Given the description of an element on the screen output the (x, y) to click on. 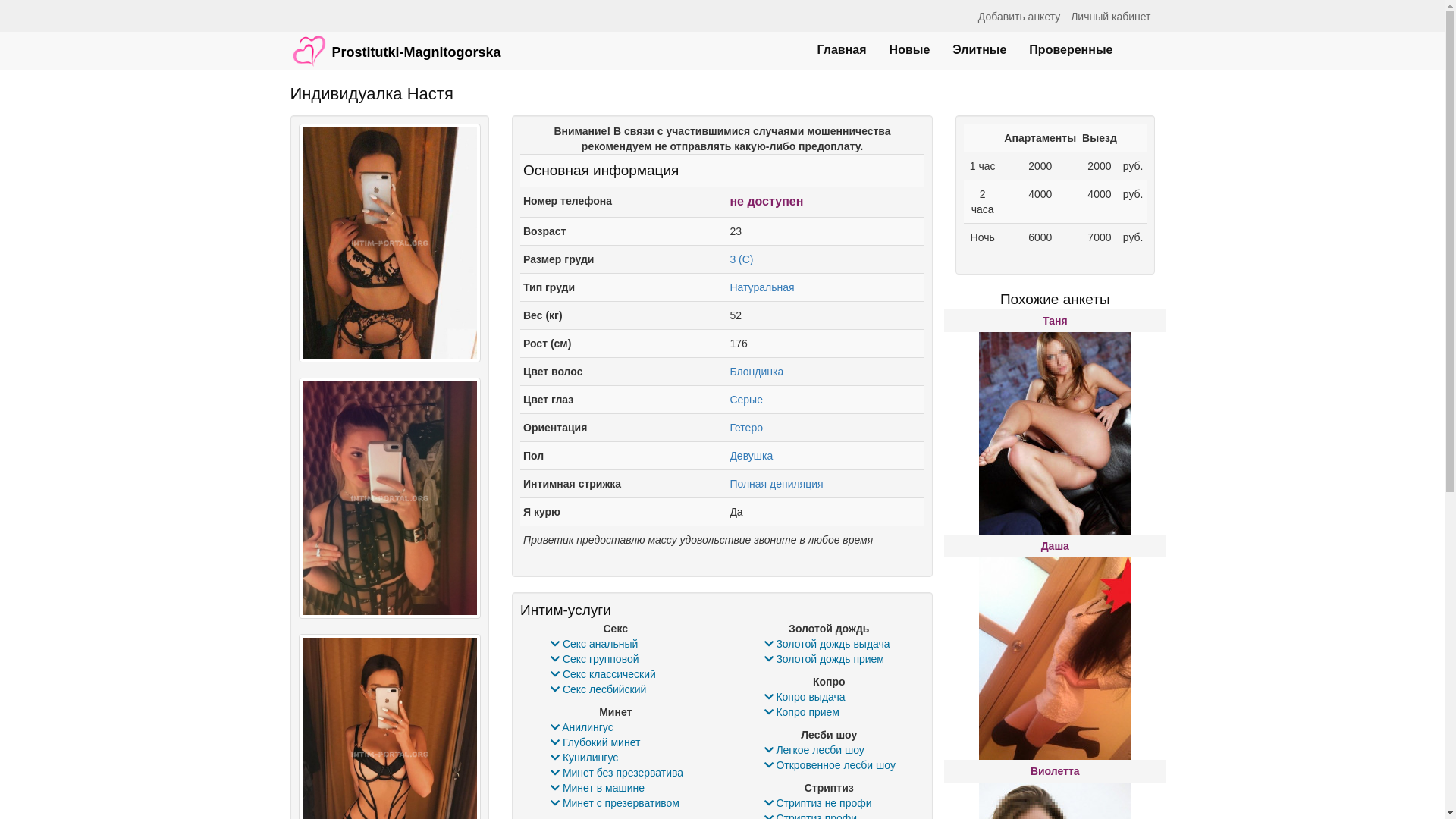
3 (C) Element type: text (741, 259)
Prostitutki-Magnitogorska Element type: text (395, 43)
